Given the description of an element on the screen output the (x, y) to click on. 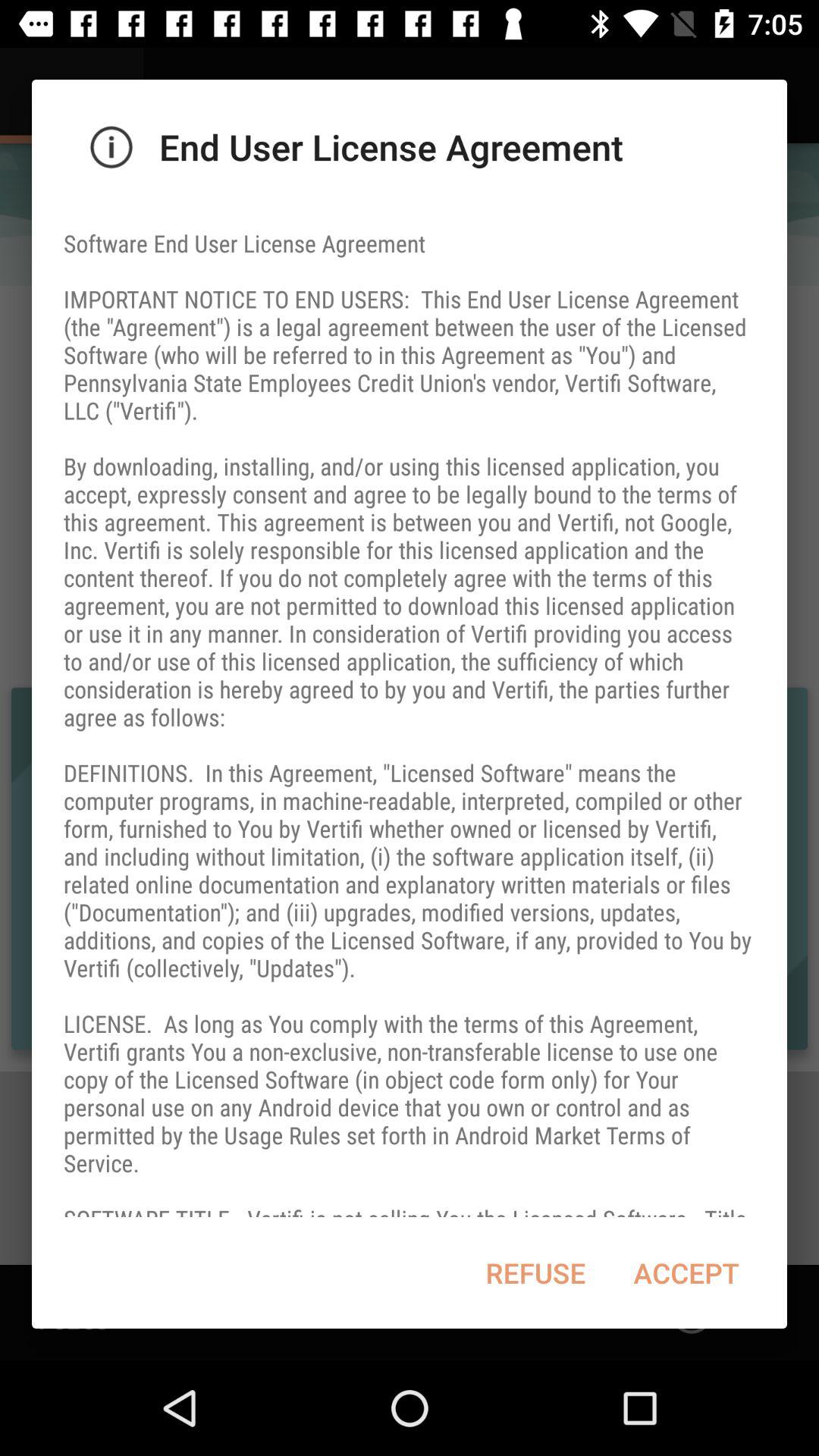
launch the item next to the accept icon (535, 1272)
